Given the description of an element on the screen output the (x, y) to click on. 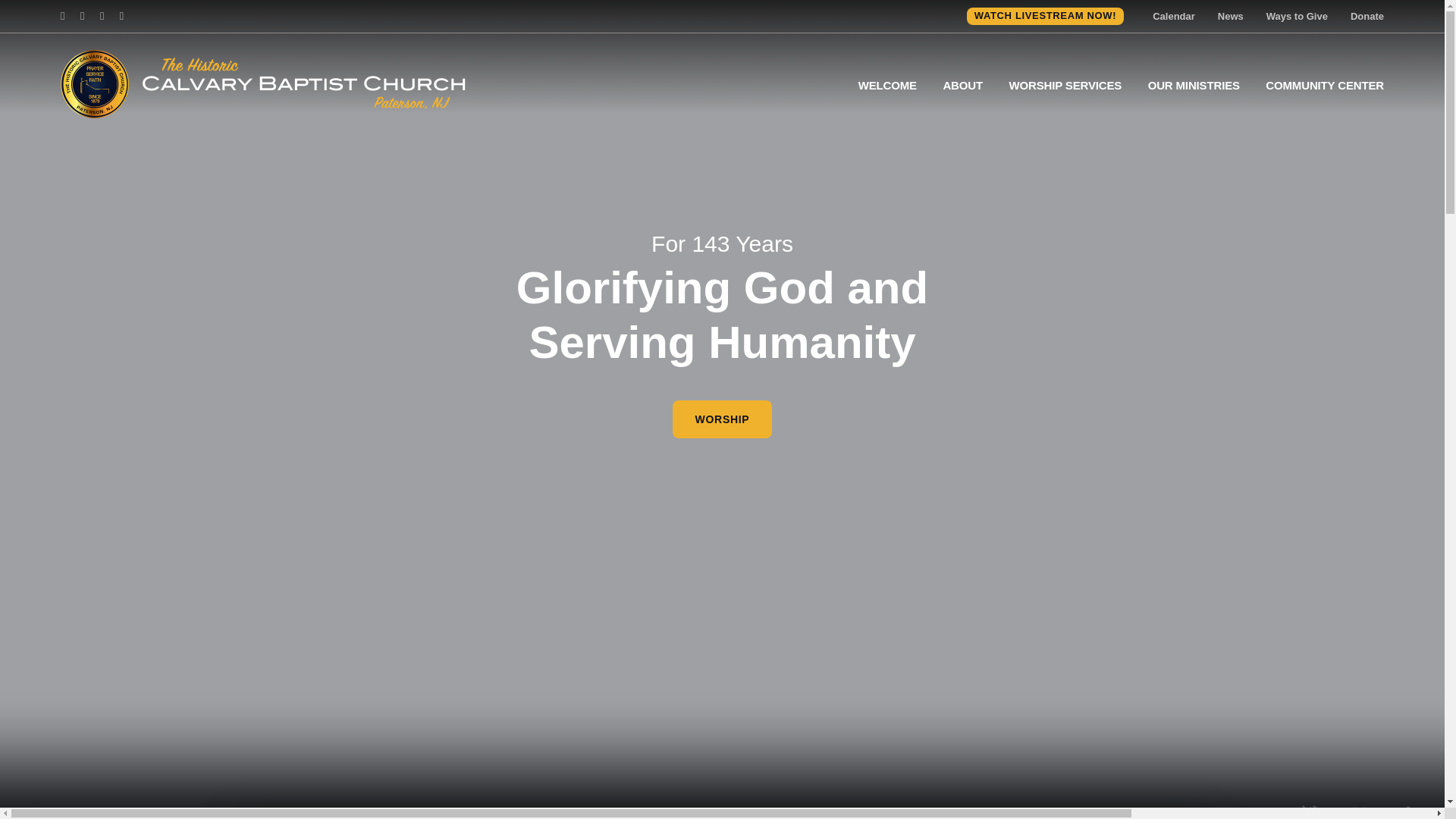
COMMUNITY CENTER (1324, 84)
WORSHIP (722, 419)
WELCOME (888, 84)
Calendar (1174, 16)
News (1230, 16)
Ways to Give (1296, 16)
WATCH LIVESTREAM NOW! (1045, 16)
OUR MINISTRIES (1194, 84)
Donate (1367, 16)
ABOUT (962, 84)
WORSHIP SERVICES (1065, 84)
